Given the description of an element on the screen output the (x, y) to click on. 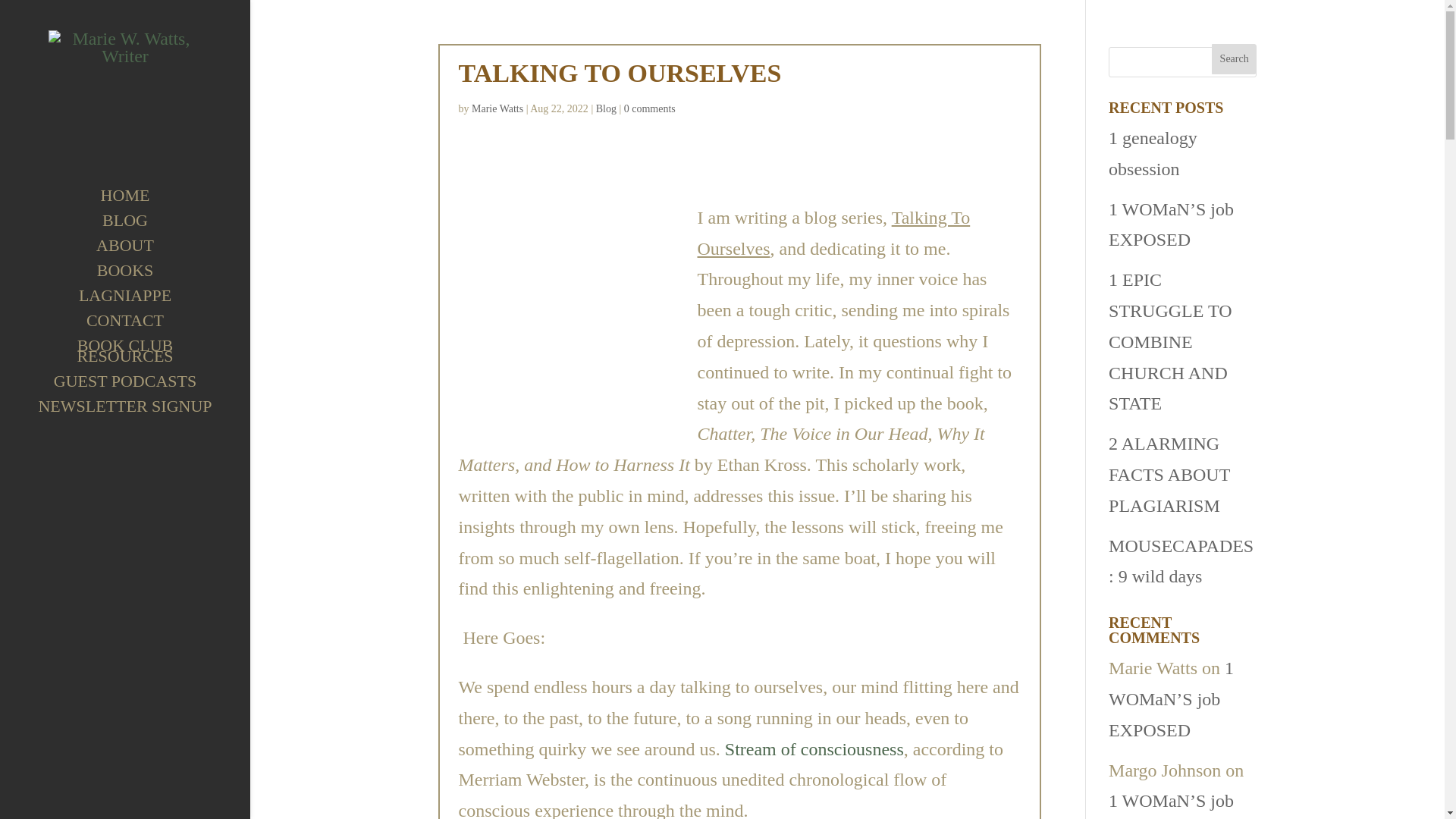
MOUSECAPADES: 9 wild days (1180, 561)
Posts by Marie Watts (496, 108)
BOOK CLUB RESOURCES (140, 357)
Search (1234, 59)
HOME (140, 202)
1 genealogy obsession (1152, 153)
BLOG (140, 227)
2 ALARMING FACTS ABOUT PLAGIARISM (1169, 474)
Search (1234, 59)
Blog (605, 108)
NEWSLETTER SIGNUP (140, 413)
Twitter (741, 55)
LAGNIAPPE (140, 302)
ABOUT (140, 252)
Marie Watts (496, 108)
